Given the description of an element on the screen output the (x, y) to click on. 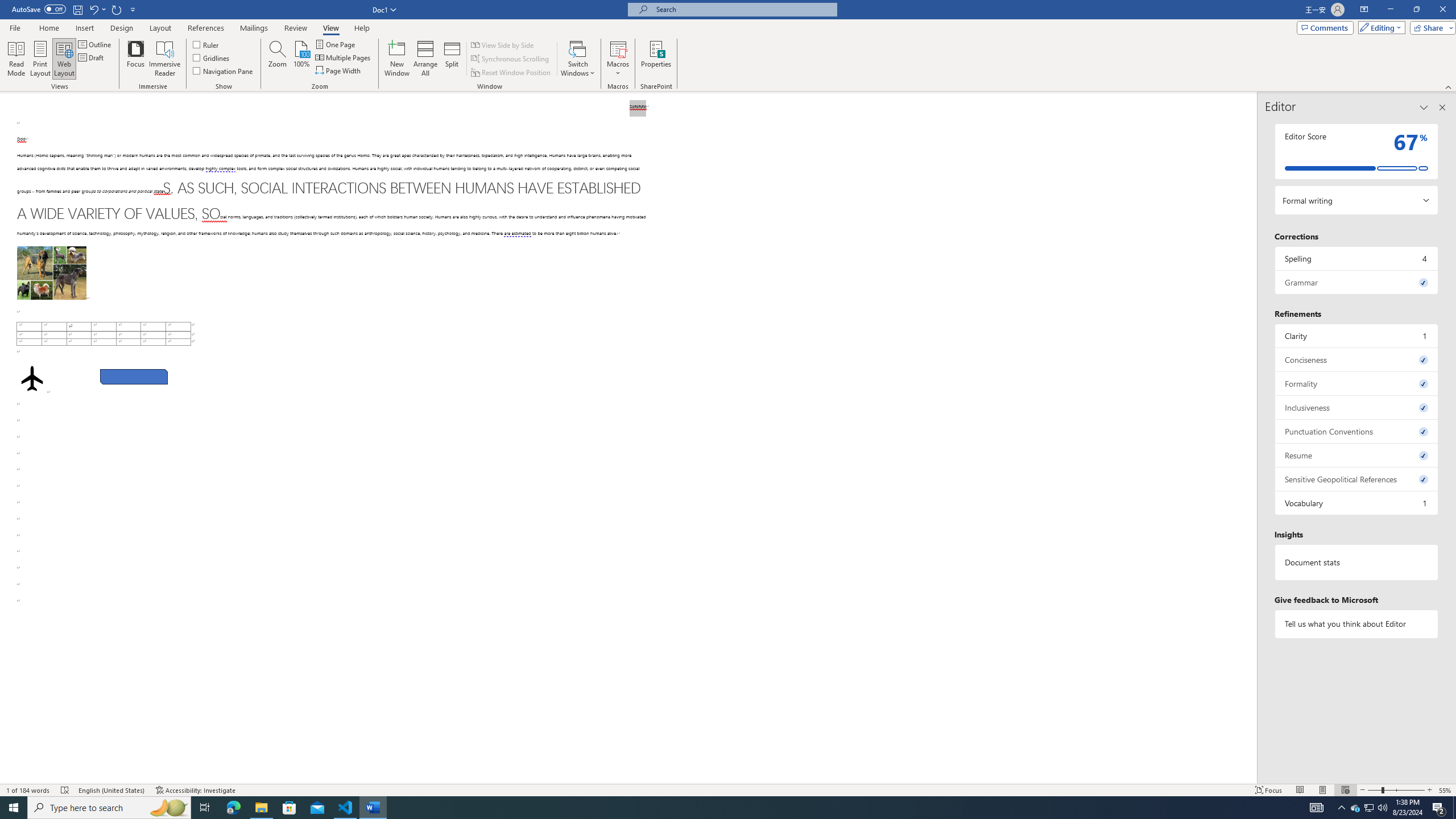
Ruler (206, 44)
Spelling and Grammar Check Errors (65, 790)
Page Width (338, 69)
Macros (617, 58)
Microsoft search (742, 9)
View Macros (617, 48)
Conciseness, 0 issues. Press space or enter to review items. (1356, 359)
Clarity, 1 issue. Press space or enter to review items. (1356, 335)
Gridlines (211, 56)
Rectangle: Diagonal Corners Snipped 2 (133, 376)
